Given the description of an element on the screen output the (x, y) to click on. 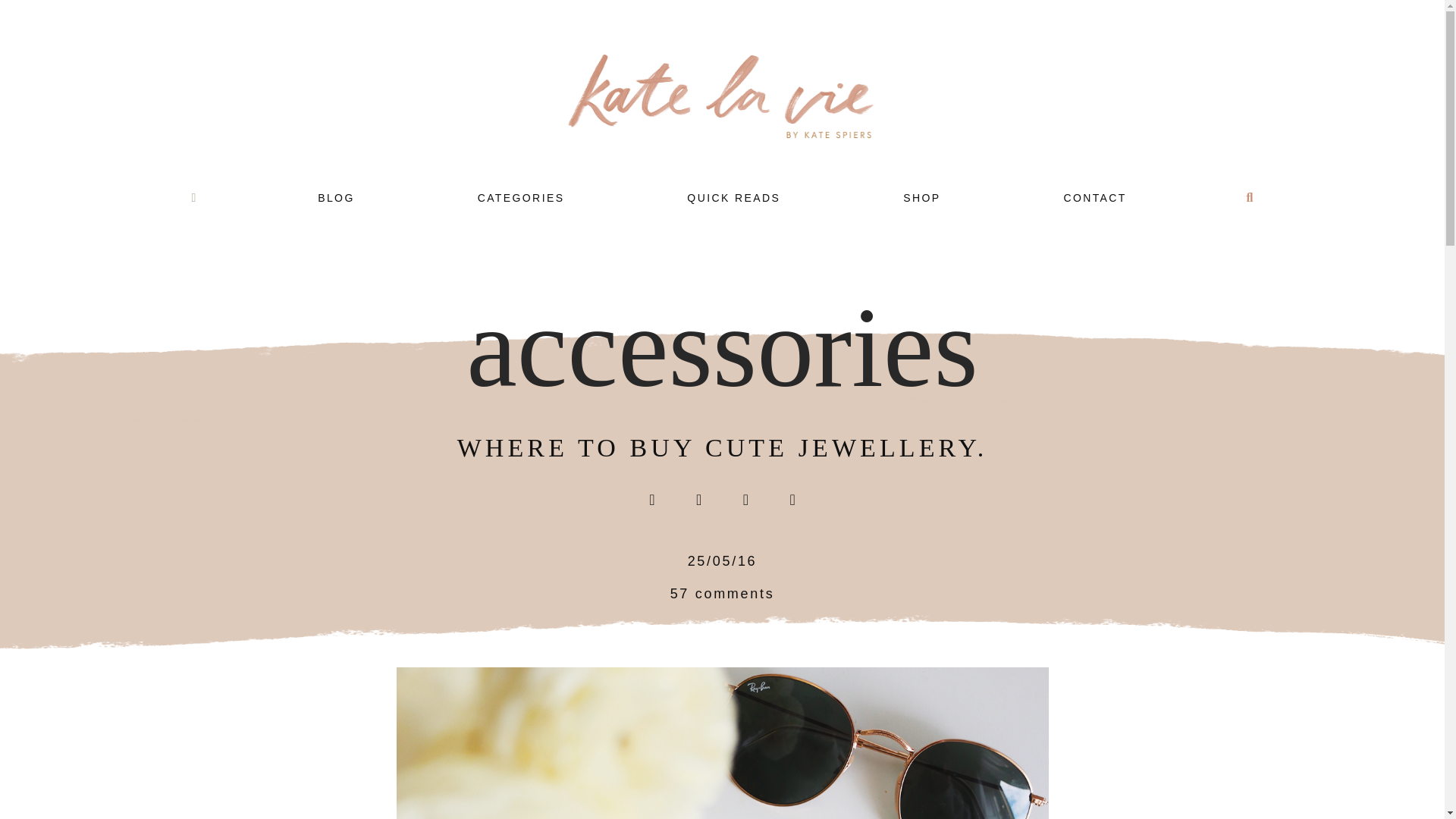
BLOG (336, 197)
CATEGORIES (520, 197)
